Given the description of an element on the screen output the (x, y) to click on. 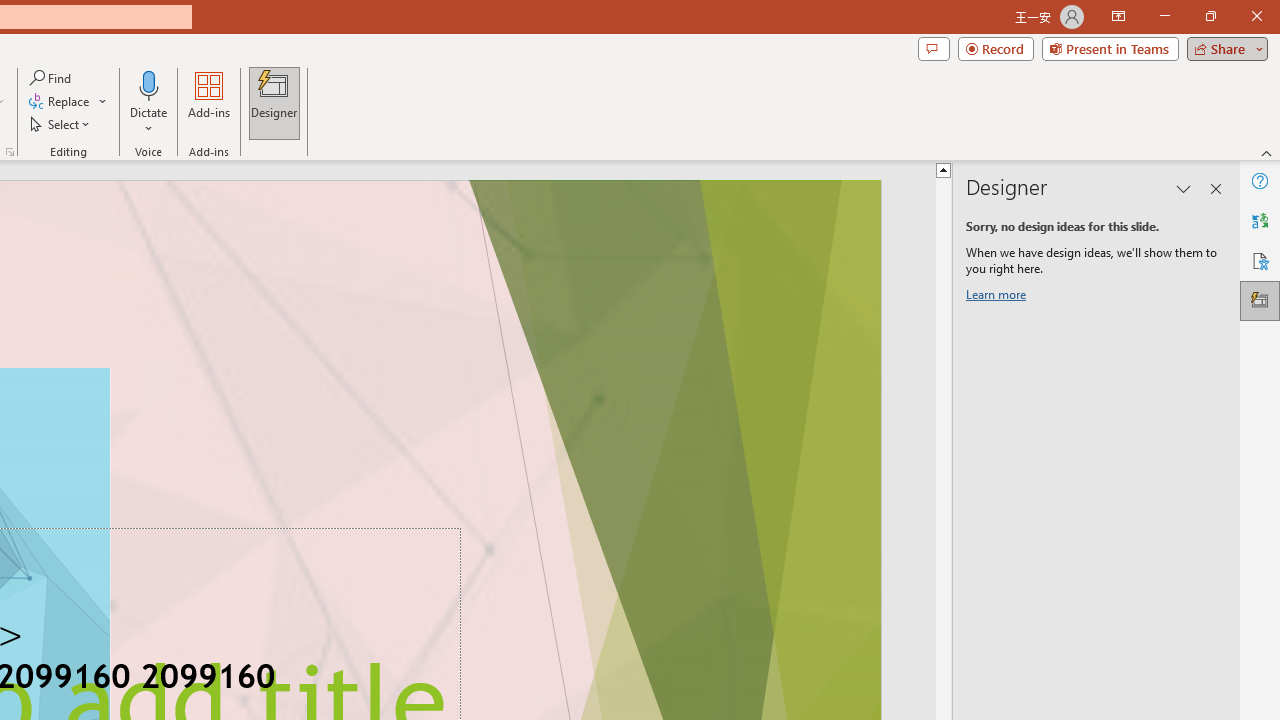
Learn more (998, 297)
